Given the description of an element on the screen output the (x, y) to click on. 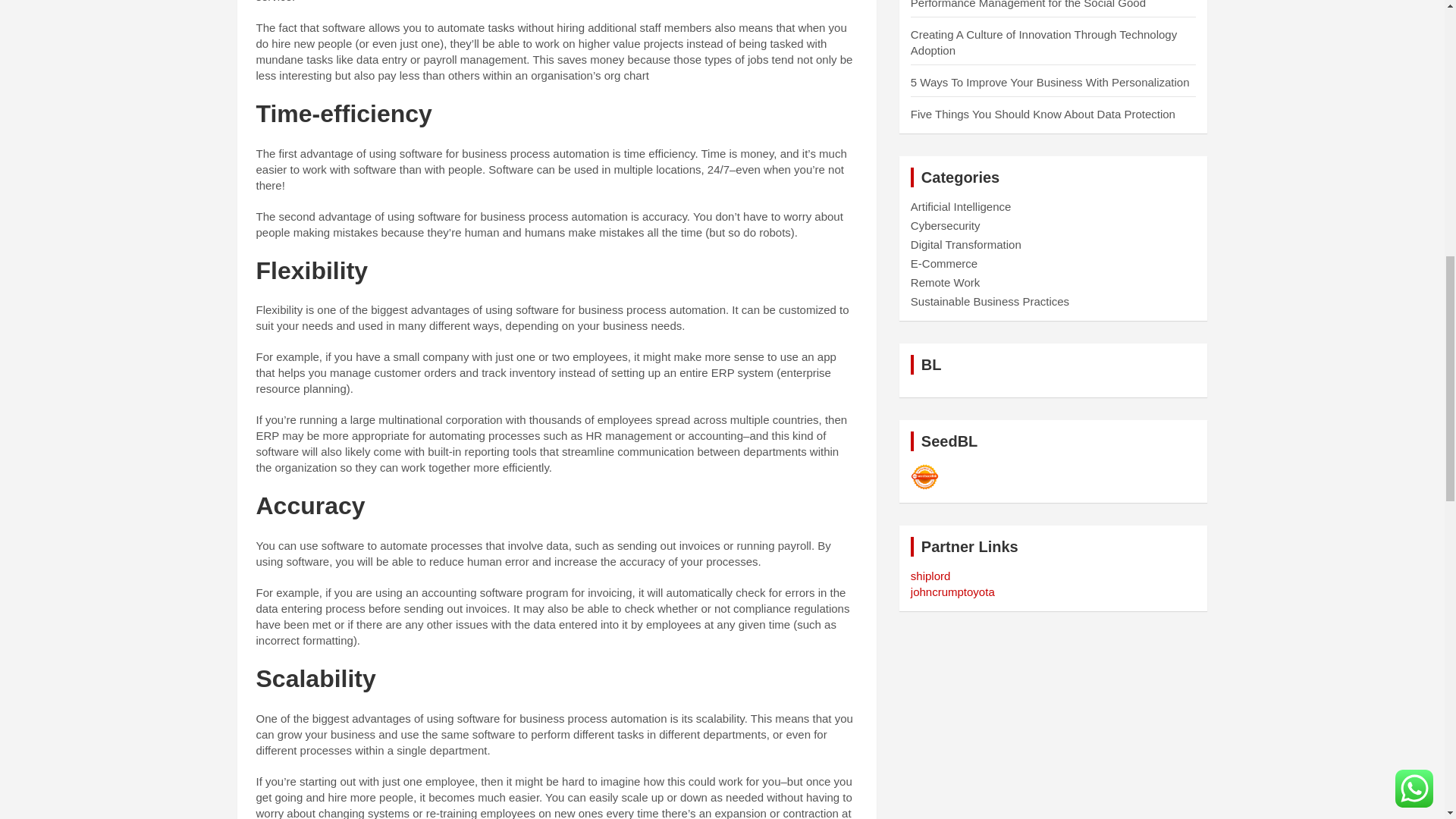
Artificial Intelligence (961, 205)
Creating A Culture of Innovation Through Technology Adoption (1043, 41)
5 Ways To Improve Your Business With Personalization (1050, 82)
Five Things You Should Know About Data Protection (1042, 113)
